Given the description of an element on the screen output the (x, y) to click on. 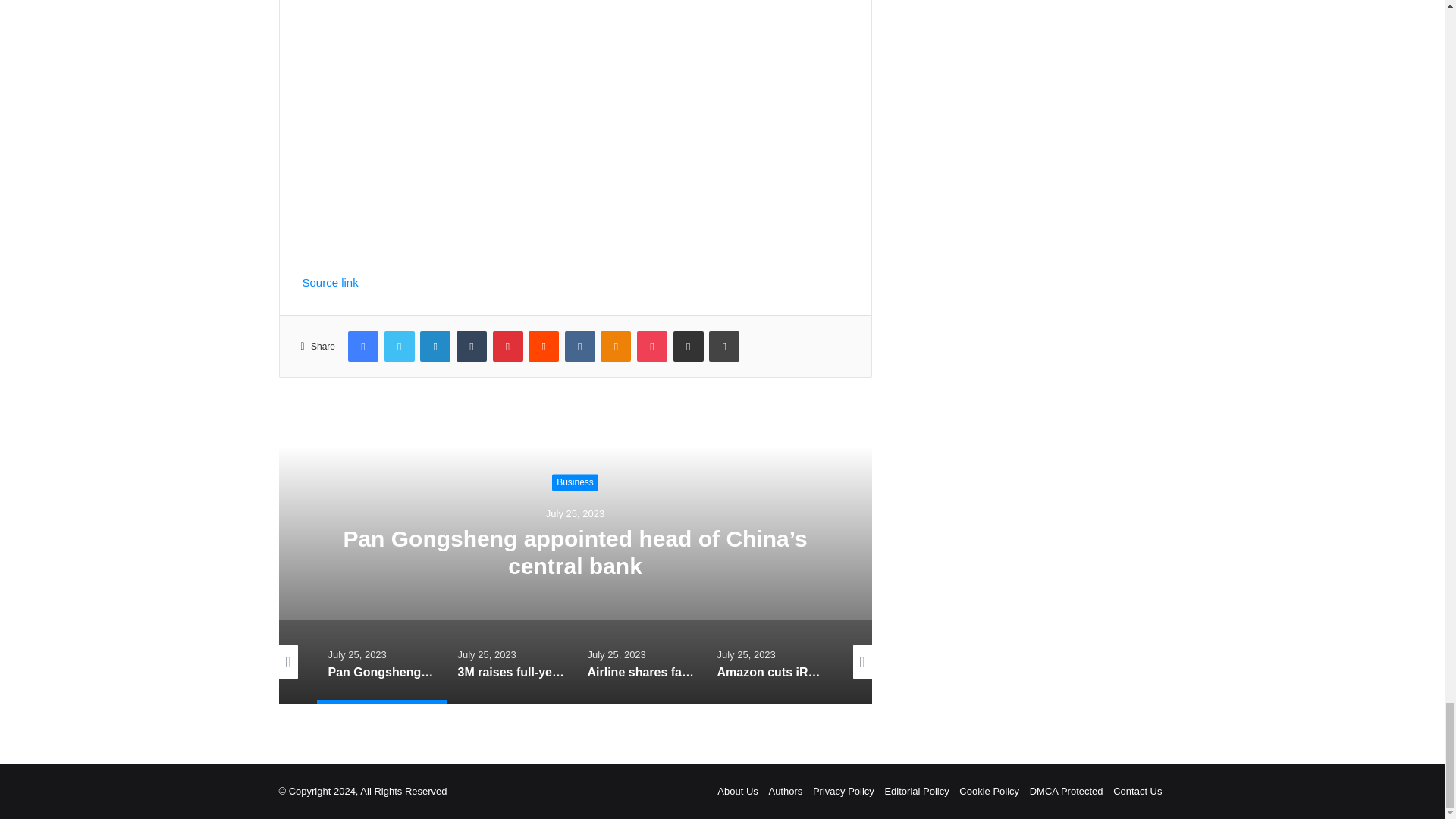
Share via Email (687, 346)
Facebook (362, 346)
Source link (329, 282)
Twitter (399, 346)
Pocket (651, 346)
Pinterest (507, 346)
LinkedIn (434, 346)
Odnoklassniki (614, 346)
VKontakte (579, 346)
LinkedIn (434, 346)
